Given the description of an element on the screen output the (x, y) to click on. 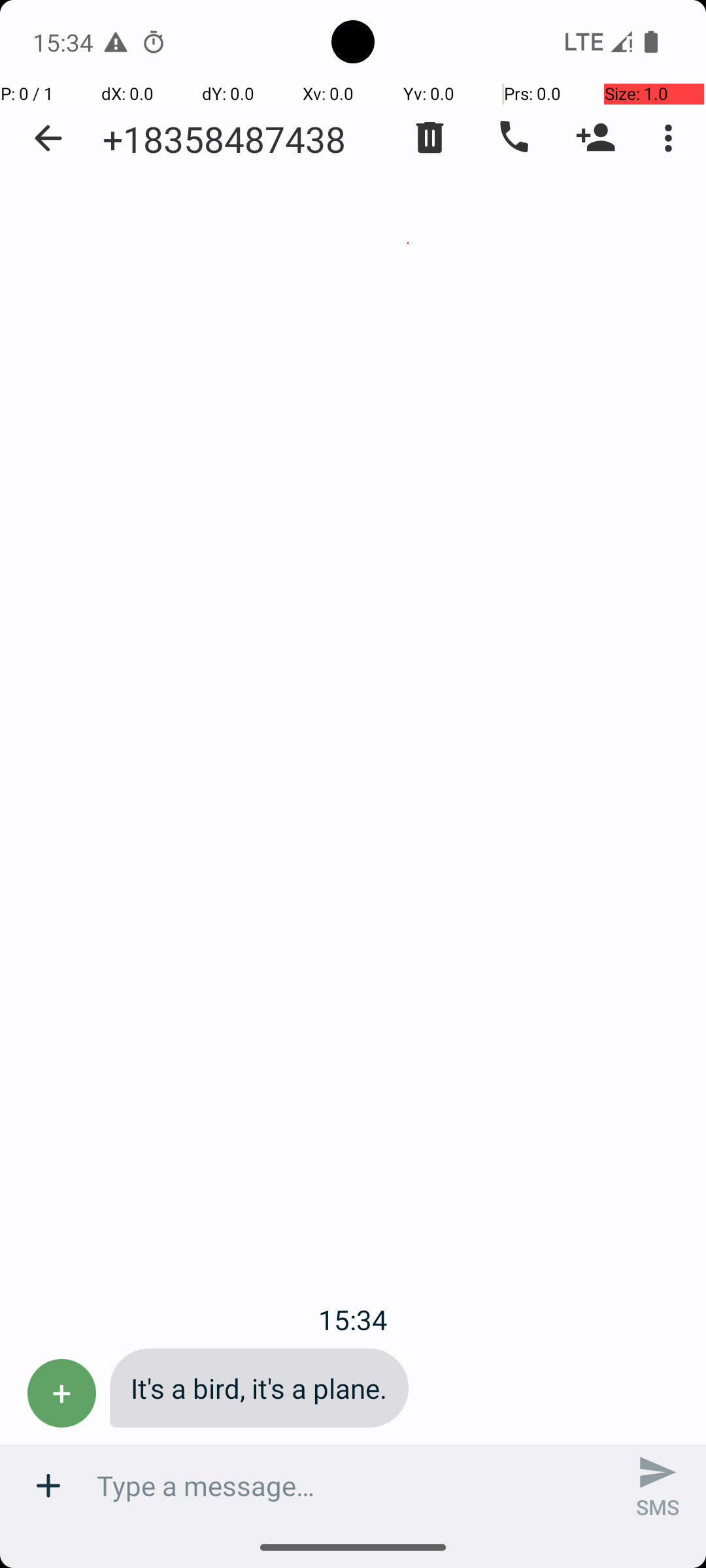
+18358487438 Element type: android.widget.TextView (223, 138)
